Given the description of an element on the screen output the (x, y) to click on. 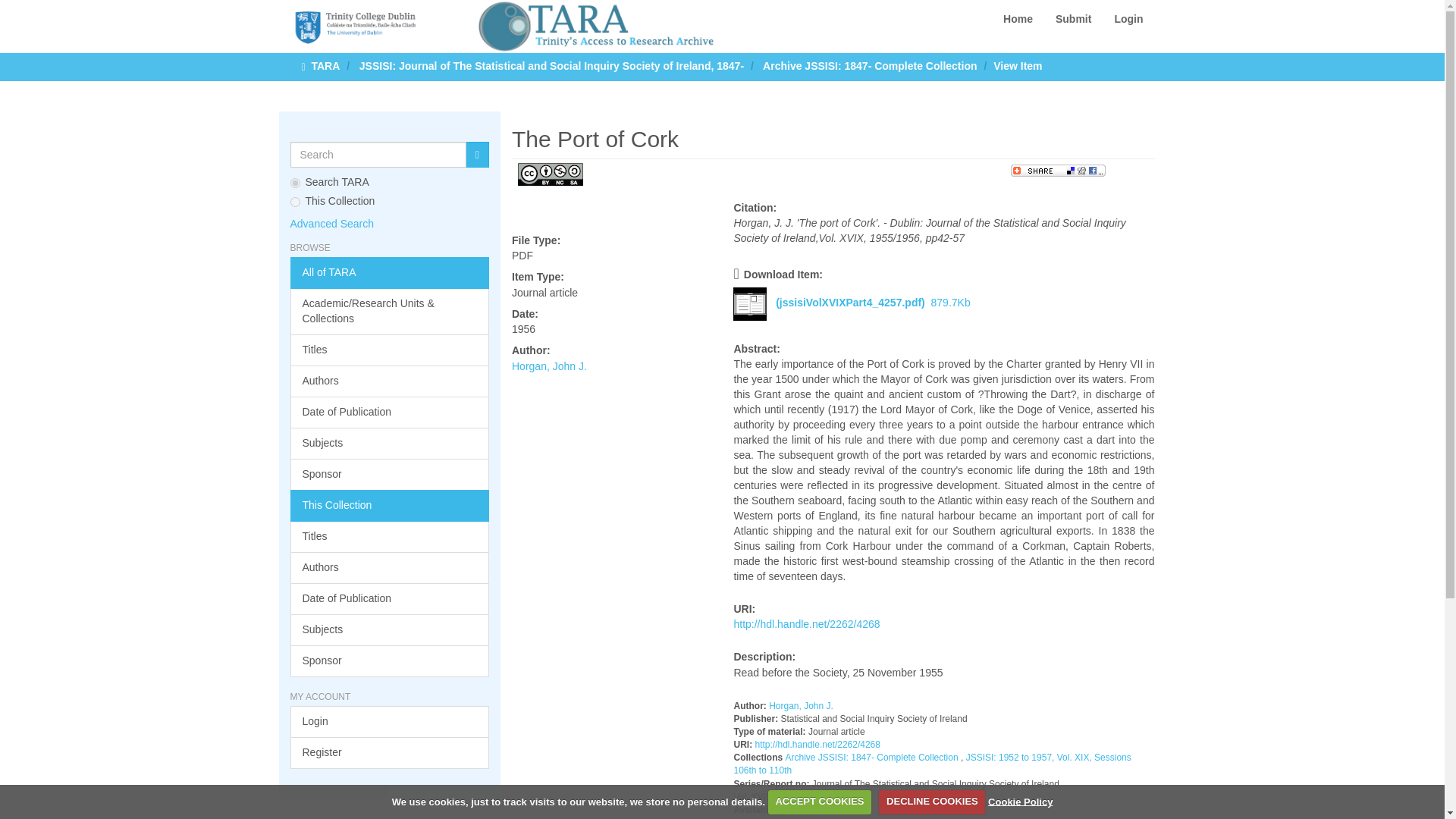
Subjects (389, 443)
Subjects (389, 630)
All of TARA (389, 273)
Archive JSSISI: 1847- Complete Collection (869, 65)
Date of Publication (389, 599)
Login (1128, 18)
Titles (389, 536)
Horgan, John J. (549, 366)
Sponsor (389, 474)
TARA (325, 65)
Authors (389, 381)
Titles (389, 350)
Date of Publication (389, 412)
Authors (389, 567)
Sponsor (389, 661)
